Given the description of an element on the screen output the (x, y) to click on. 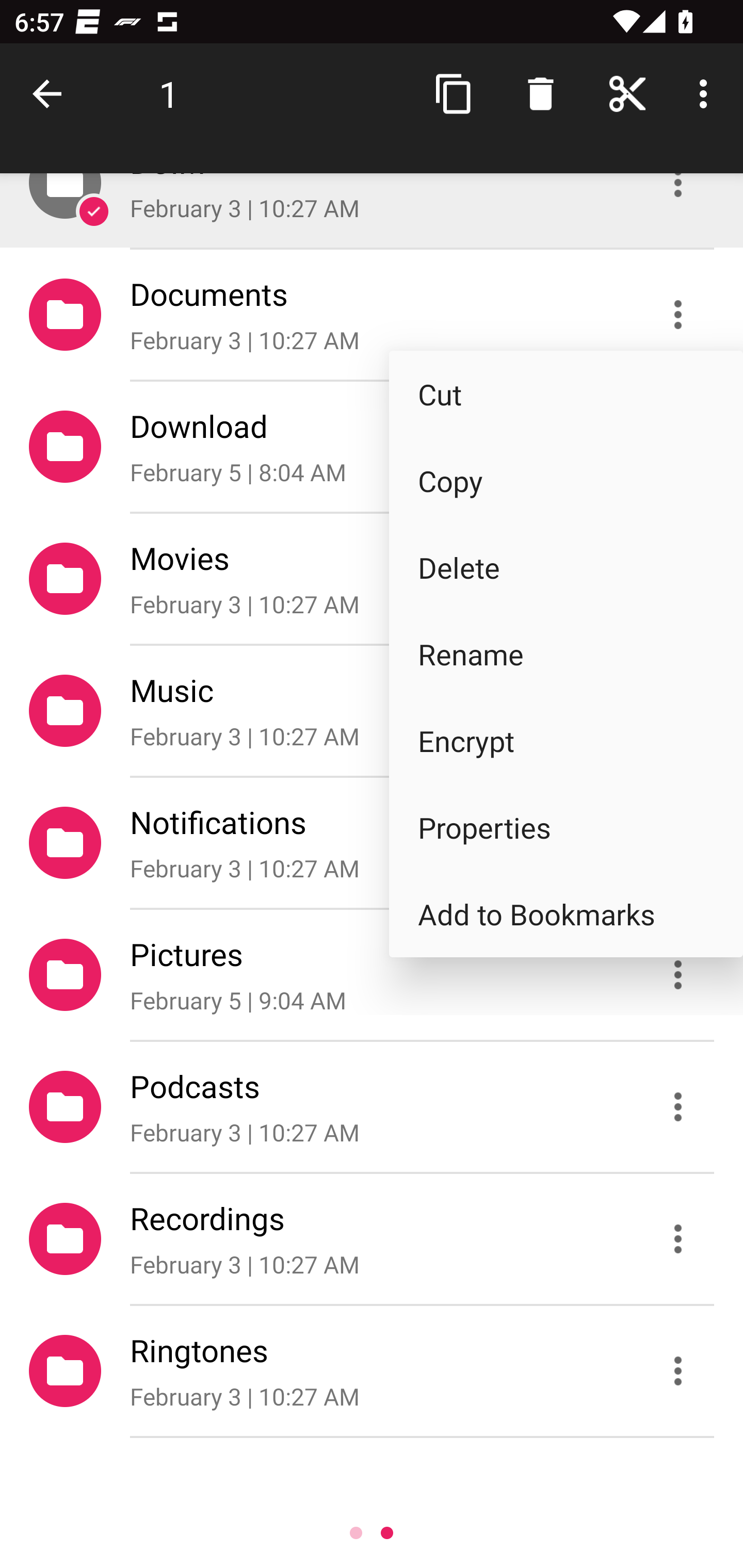
Cut (566, 394)
Copy (566, 480)
Delete (566, 566)
Rename (566, 653)
Encrypt (566, 740)
Properties (566, 827)
Add to Bookmarks (566, 914)
